Given the description of an element on the screen output the (x, y) to click on. 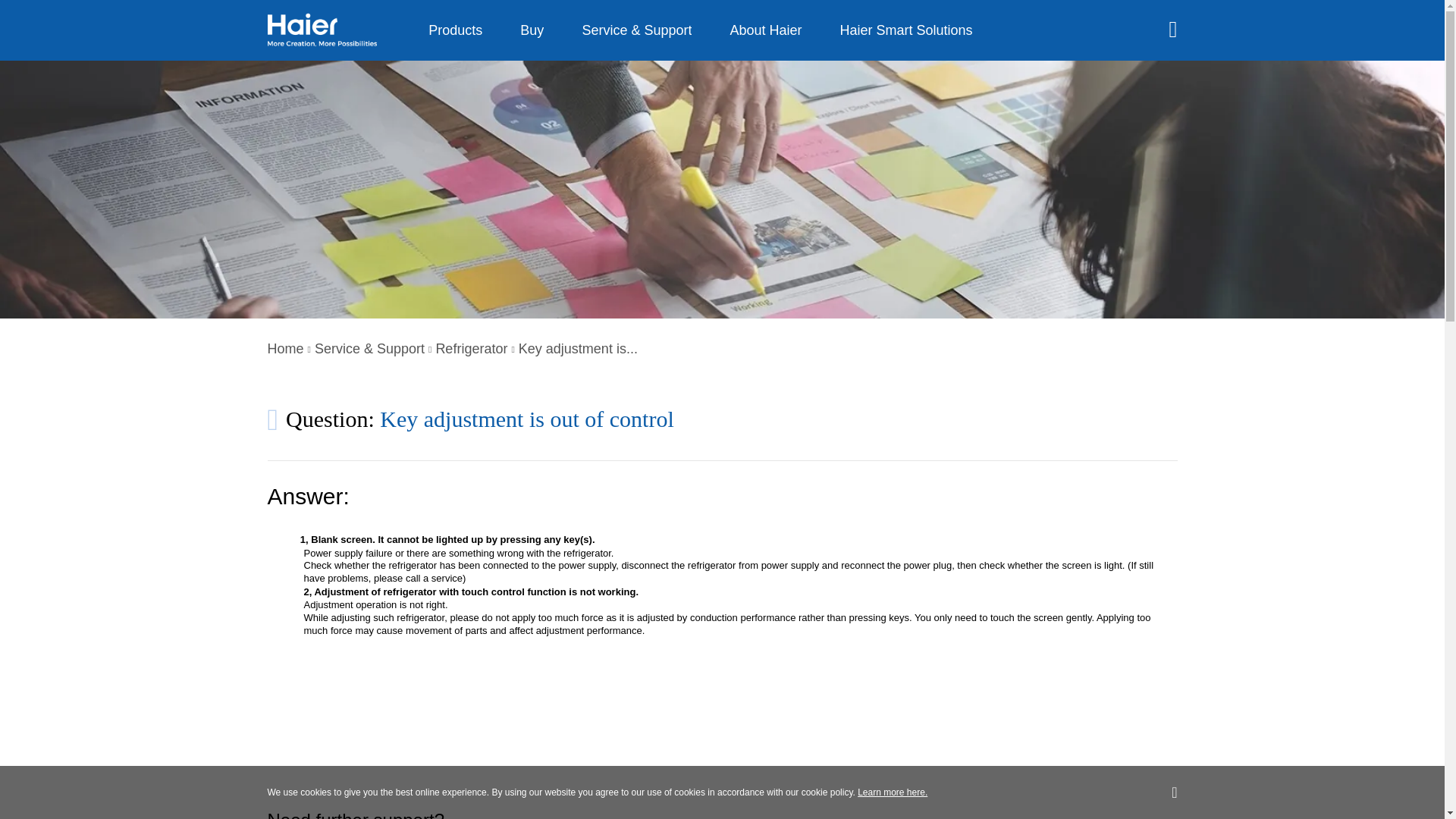
Learn more here. (892, 792)
Home (284, 348)
Haier Smart Solutions (906, 30)
Buy (532, 30)
About Haier (765, 30)
Products (455, 30)
Refrigerator (470, 348)
